Given the description of an element on the screen output the (x, y) to click on. 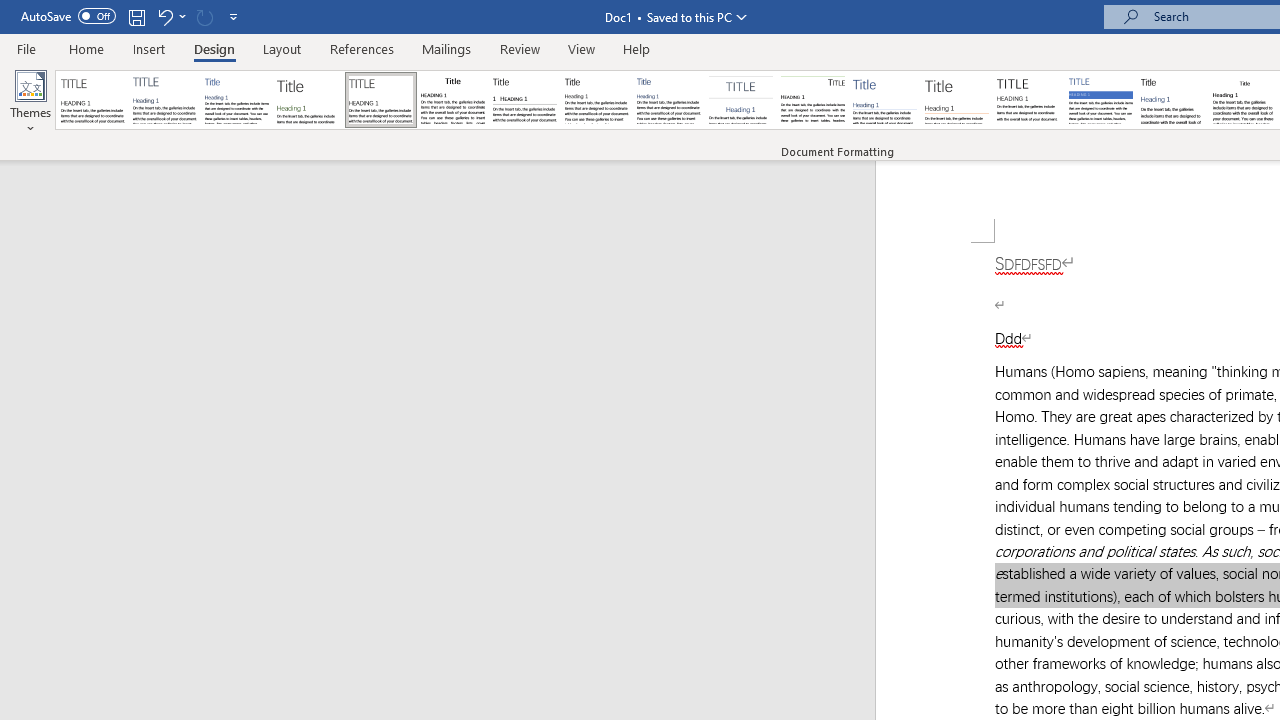
Undo Apply Quick Style Set (164, 15)
Casual (669, 100)
Undo Apply Quick Style Set (170, 15)
Document (93, 100)
Black & White (Capitalized) (381, 100)
Lines (Stylish) (957, 100)
Centered (740, 100)
Word (1172, 100)
Basic (Simple) (236, 100)
